Given the description of an element on the screen output the (x, y) to click on. 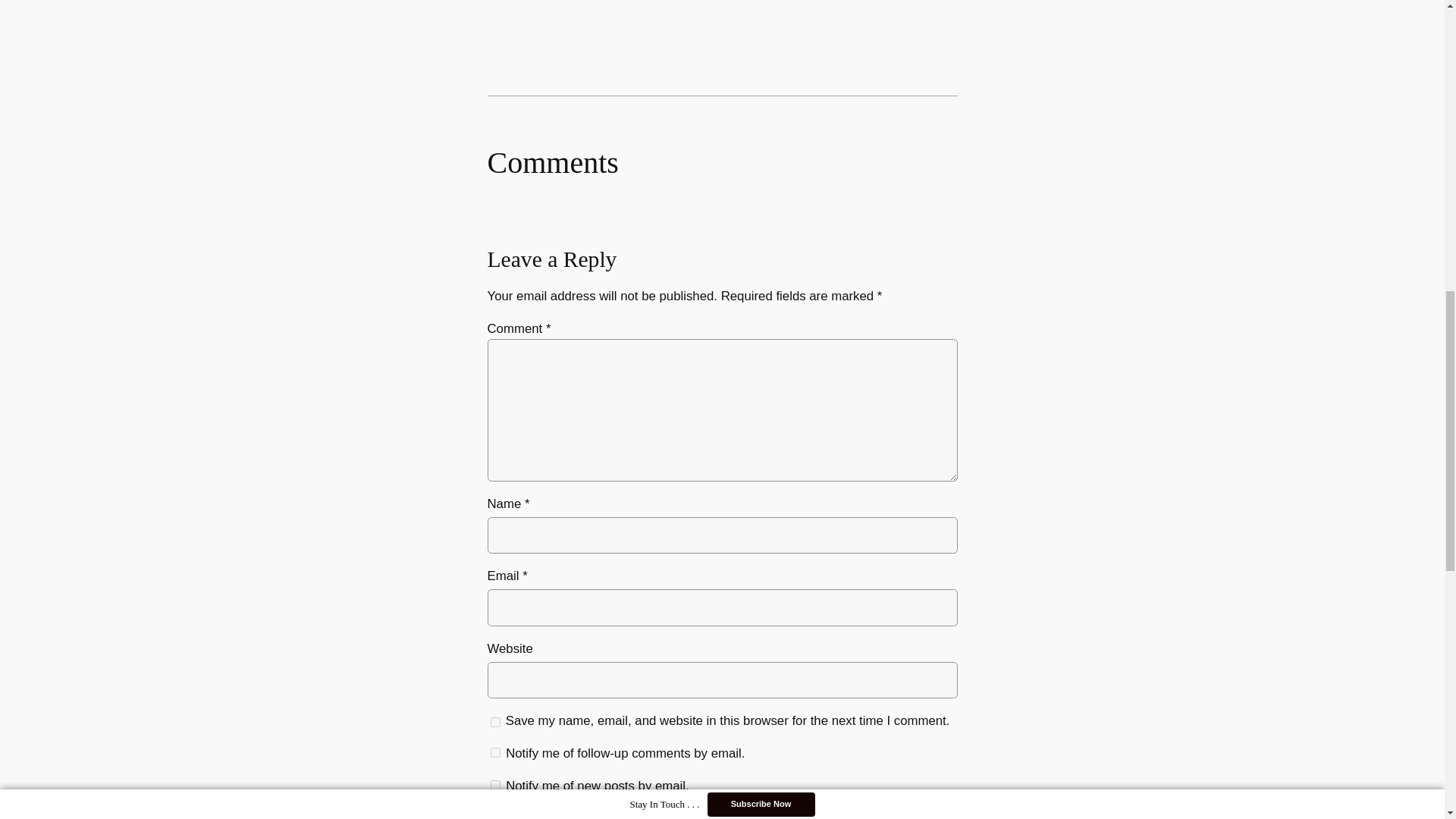
Post Comment (534, 814)
Post Comment (534, 814)
subscribe (494, 785)
subscribe (494, 752)
